Given the description of an element on the screen output the (x, y) to click on. 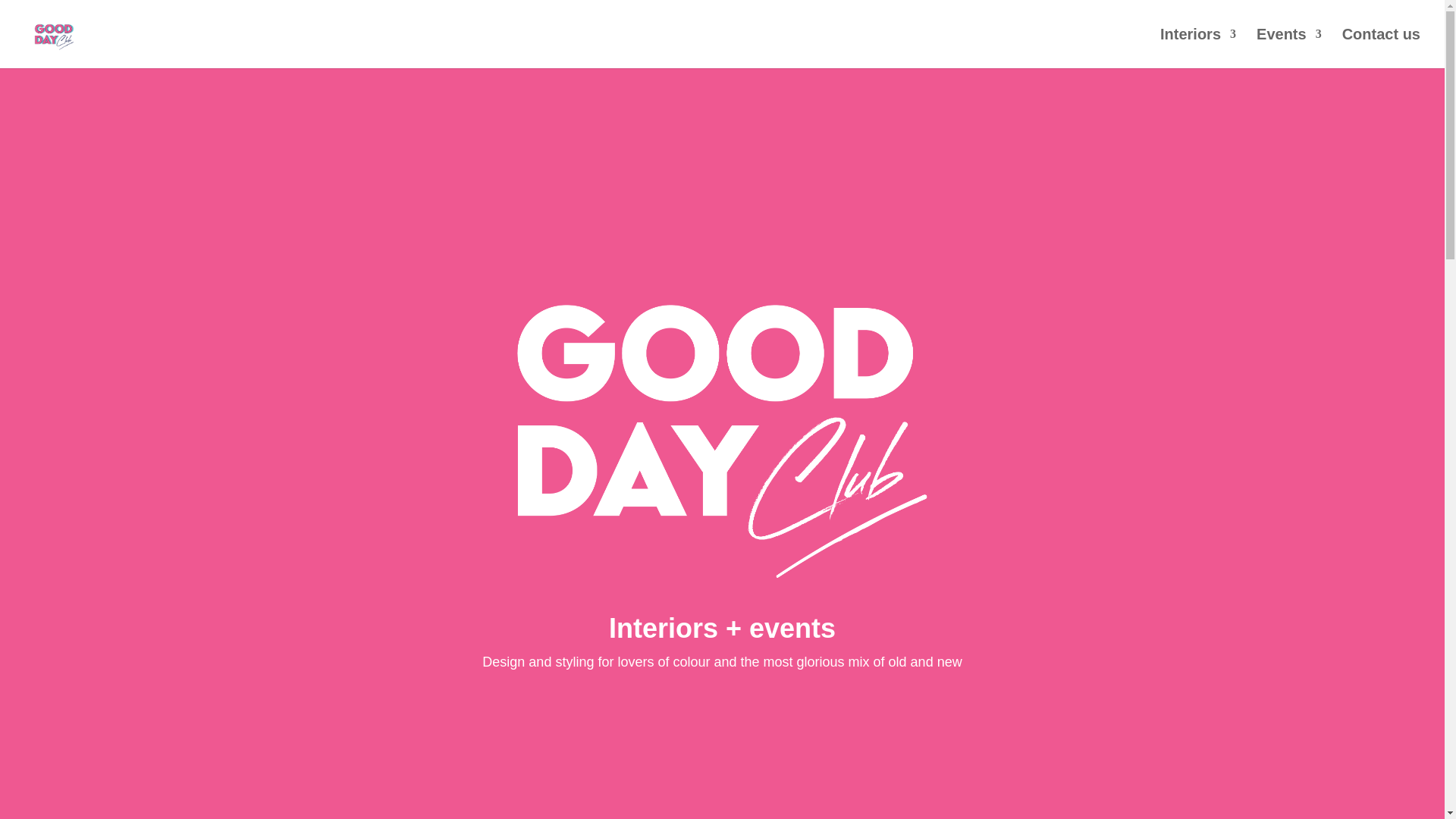
Contact us (1381, 47)
Interiors (1198, 47)
Events (1289, 47)
